Given the description of an element on the screen output the (x, y) to click on. 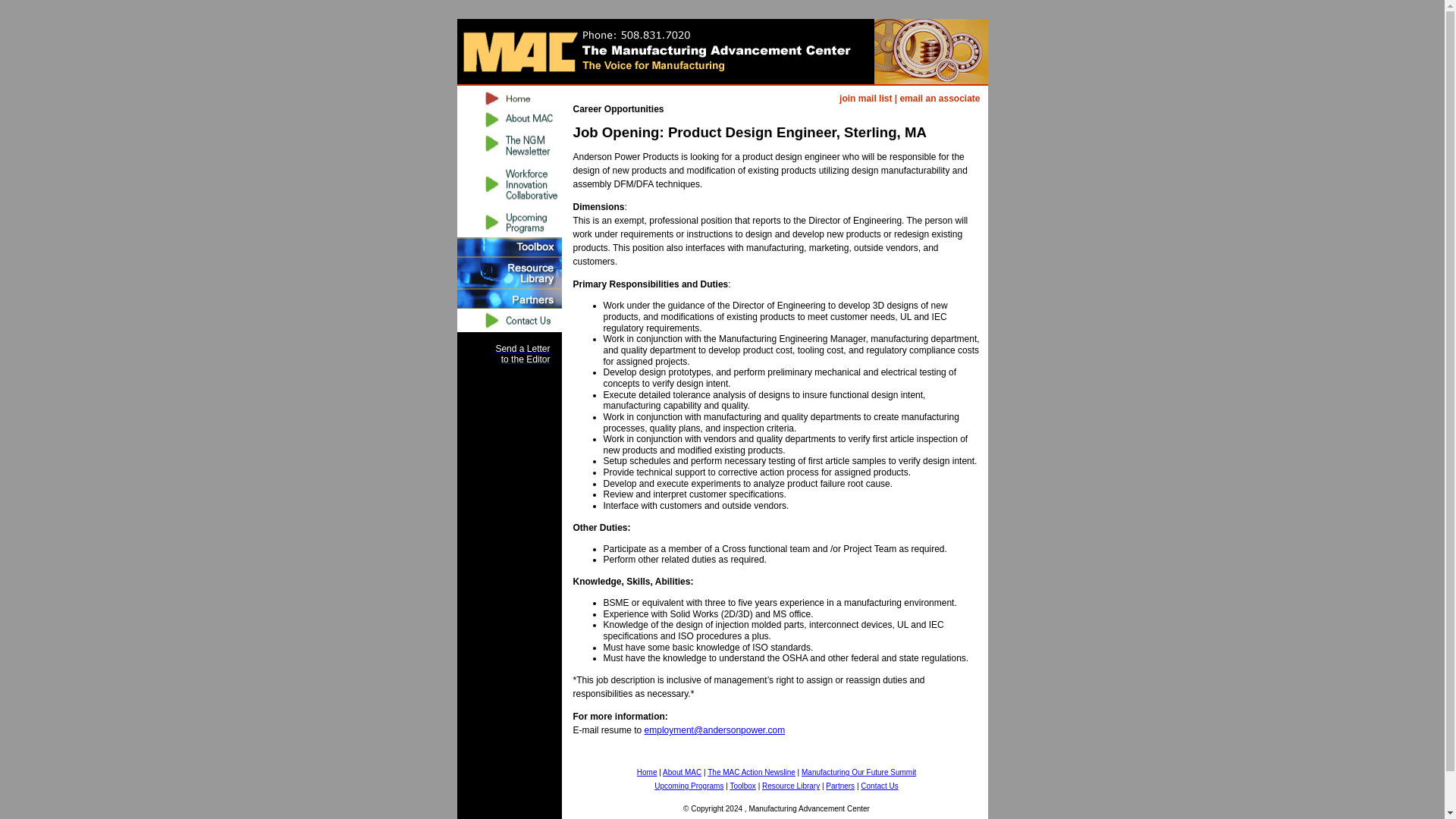
The MAC Action Newsline (508, 146)
Home (647, 771)
join mail list (865, 98)
Contact Us (879, 785)
Toolbox (742, 785)
Partners (839, 785)
Partners (508, 298)
Contact Us (879, 785)
Upcoming Programs (688, 785)
Resource Library (508, 272)
